Given the description of an element on the screen output the (x, y) to click on. 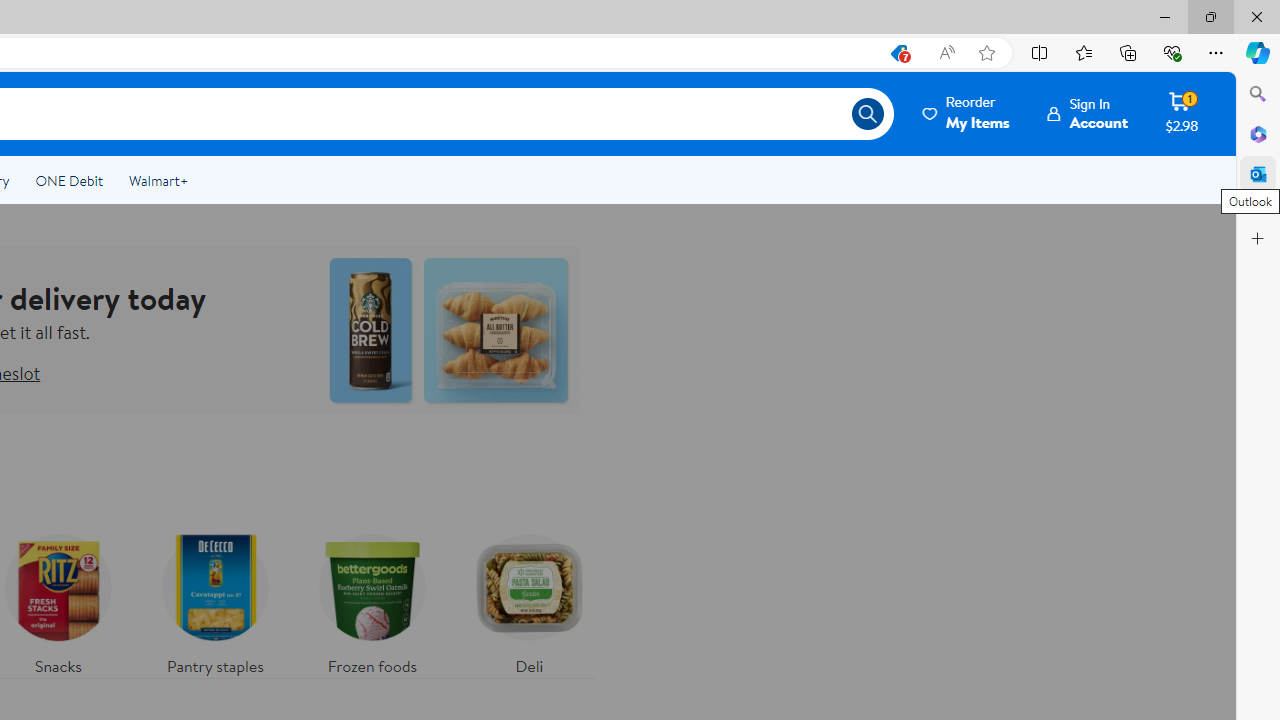
Walmart+ (158, 180)
Frozen foods (371, 599)
Deli (529, 599)
Pantry staples (214, 599)
Sign InAccount (1088, 113)
This site has coupons! Shopping in Microsoft Edge, 7 (898, 53)
Sign In Account (1088, 113)
